Given the description of an element on the screen output the (x, y) to click on. 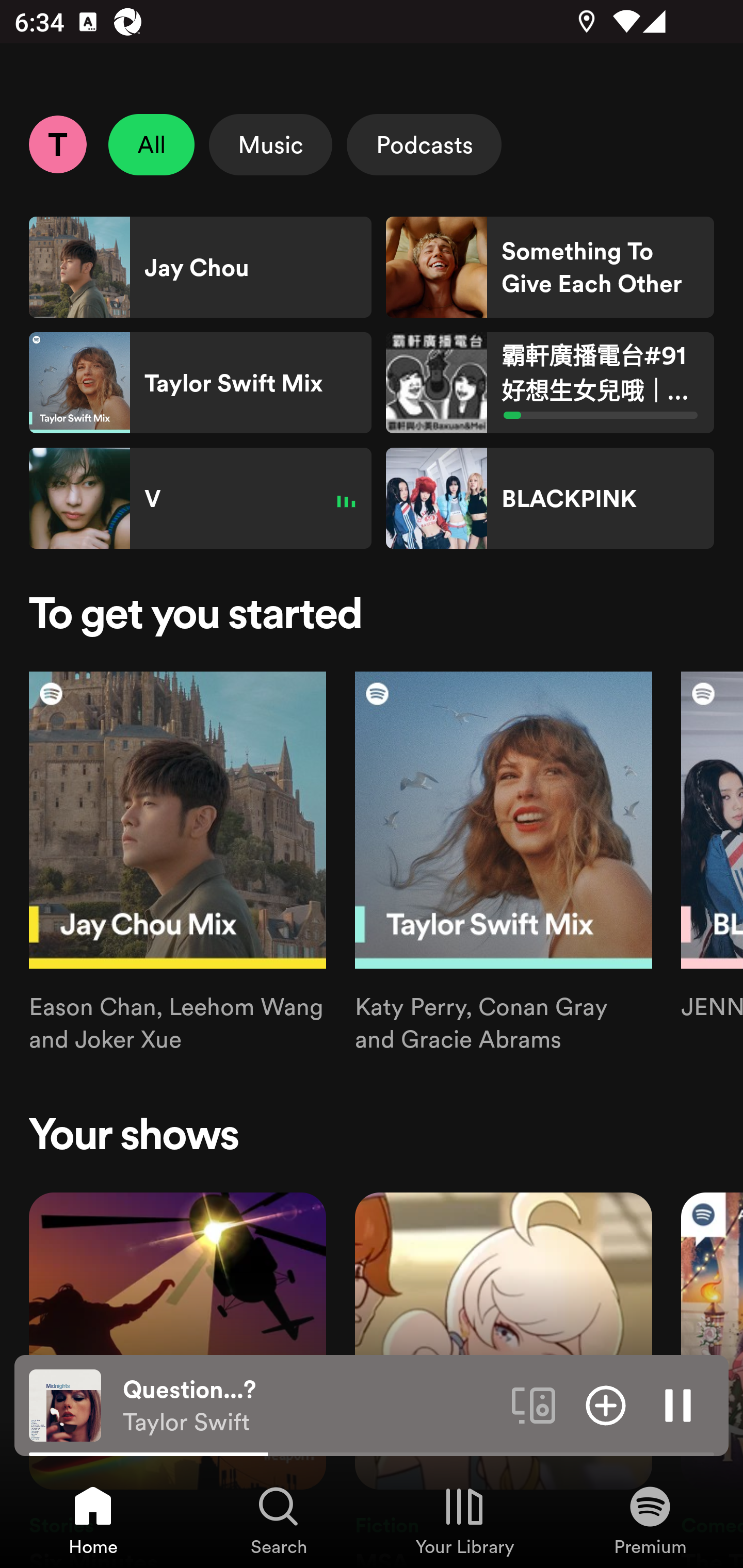
Profile (57, 144)
All Unselect All (151, 144)
Music Select Music (270, 144)
Podcasts Select Podcasts (423, 144)
Jay Chou Shortcut Jay Chou (199, 267)
Taylor Swift Mix Shortcut Taylor Swift Mix (199, 382)
V Shortcut V Playing (199, 498)
BLACKPINK Shortcut BLACKPINK (549, 498)
Question...? Taylor Swift (309, 1405)
The cover art of the currently playing track (64, 1404)
Connect to a device. Opens the devices menu (533, 1404)
Add item (605, 1404)
Pause (677, 1404)
Home, Tab 1 of 4 Home Home (92, 1519)
Search, Tab 2 of 4 Search Search (278, 1519)
Your Library, Tab 3 of 4 Your Library Your Library (464, 1519)
Premium, Tab 4 of 4 Premium Premium (650, 1519)
